Given the description of an element on the screen output the (x, y) to click on. 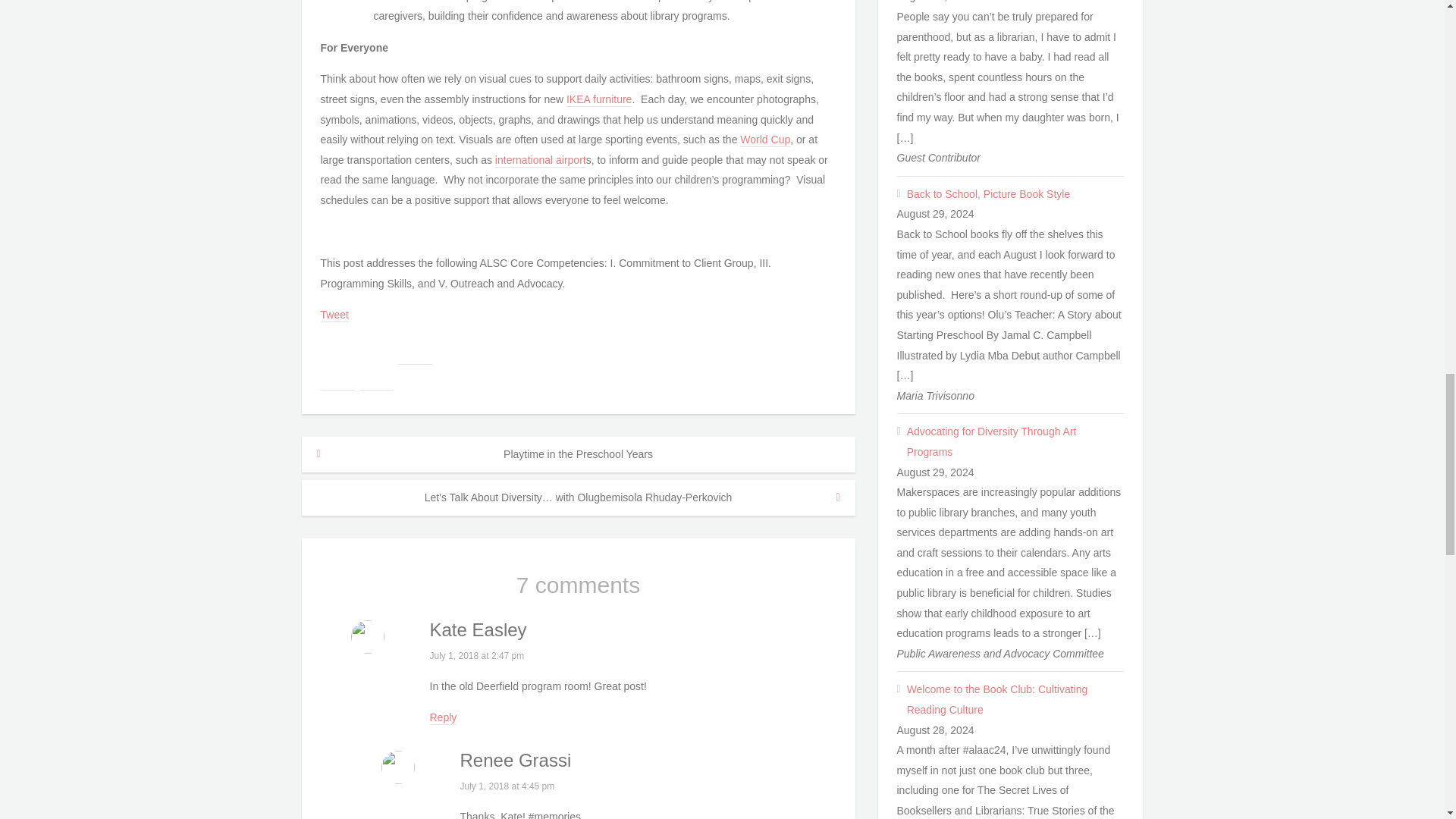
international airport (540, 160)
Share on Twitter (376, 373)
Playtime in the Preschool Years (578, 454)
World Cup (764, 140)
Share on Facebook (336, 373)
Share on Linkedin (415, 347)
July 1, 2018 at 4:45 pm (507, 786)
Reply (443, 717)
July 1, 2018 at 2:47 pm (476, 655)
Tweet (333, 315)
